Given the description of an element on the screen output the (x, y) to click on. 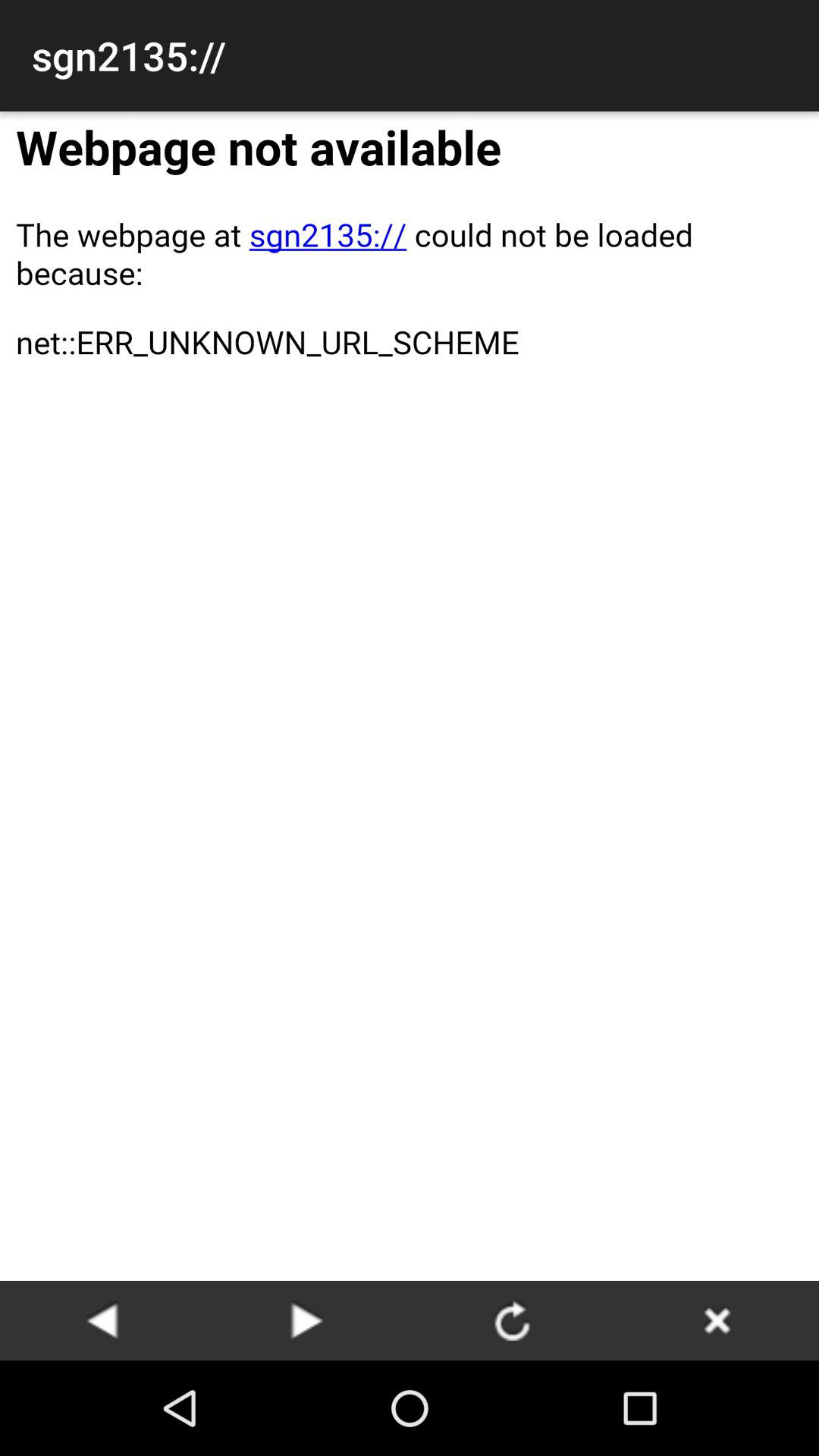
close page (716, 1320)
